Given the description of an element on the screen output the (x, y) to click on. 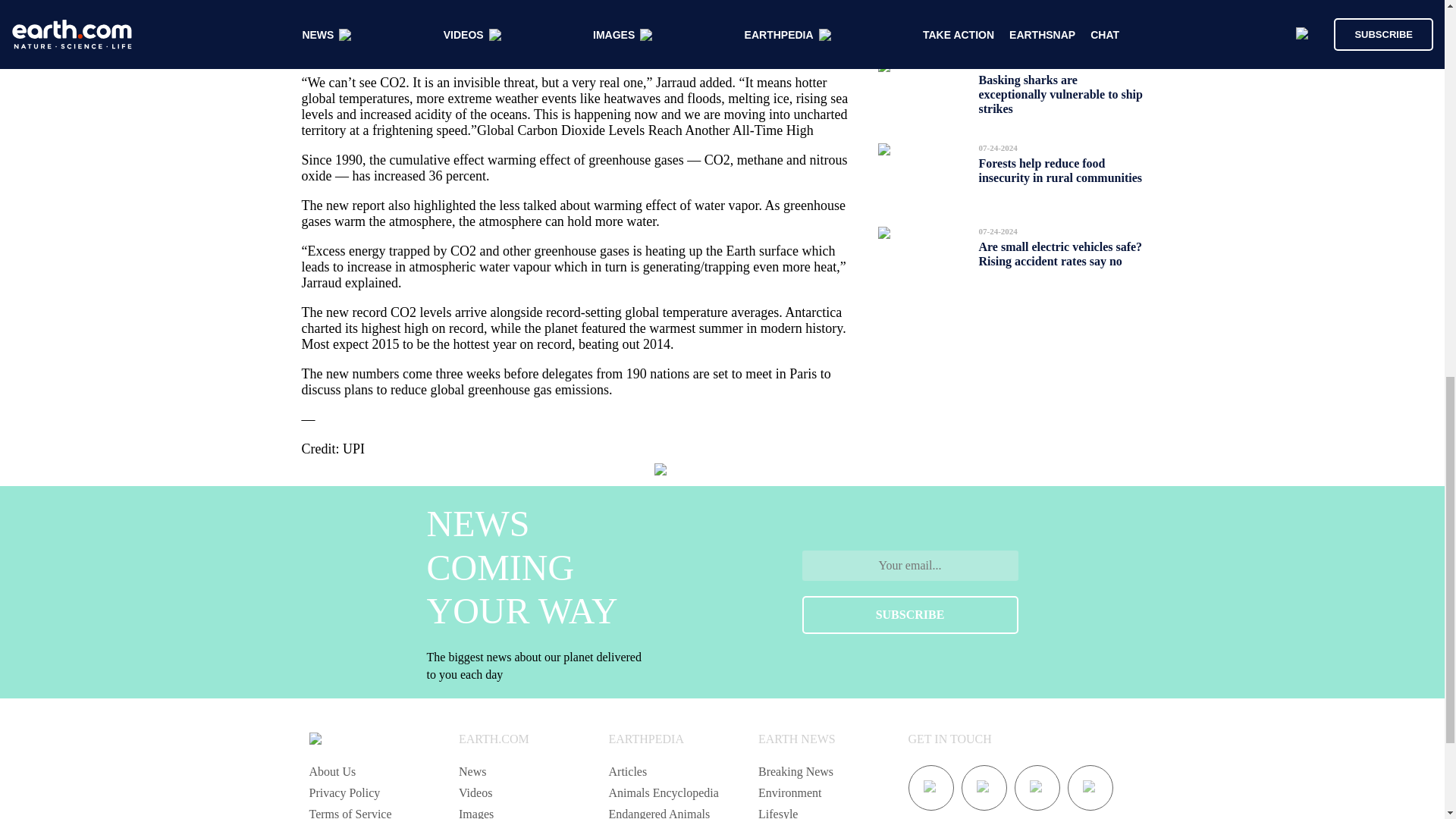
Pulsars are helping astronomers pinpoint dark matter (1048, 19)
Terms of Service (349, 813)
About Us (332, 771)
SUBSCRIBE (909, 614)
Forests help reduce food insecurity in rural communities (1059, 170)
Privacy Policy (344, 792)
Basking sharks are exceptionally vulnerable to ship strikes (1059, 94)
CO2 (575, 37)
